Given the description of an element on the screen output the (x, y) to click on. 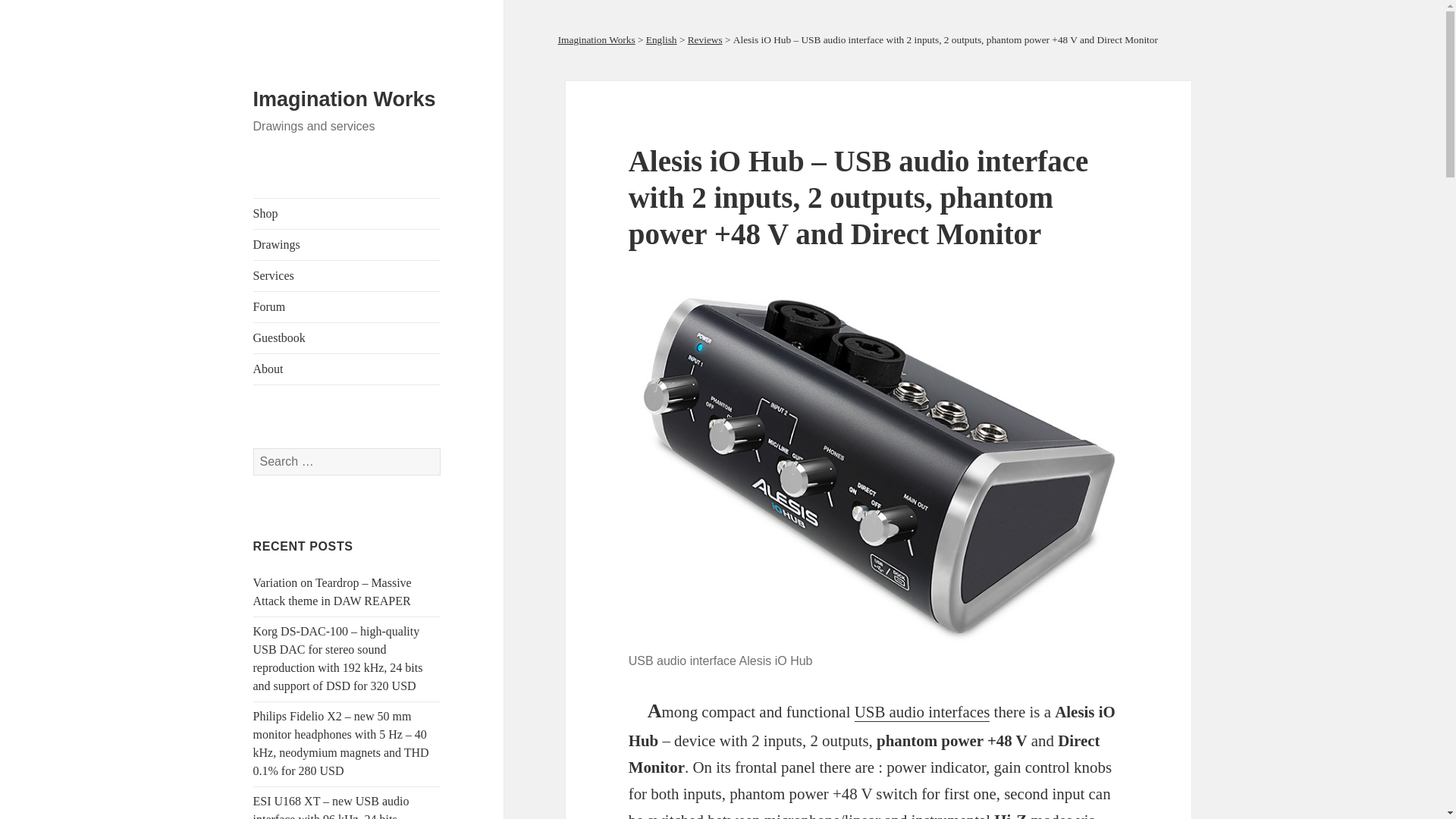
Go to the Reviews category archives. (704, 39)
Search for: (347, 461)
Go to the English category archives. (661, 39)
USB audio interfaces (922, 711)
Go to Imagination Works. (595, 39)
Reviews (704, 39)
Imagination Works (595, 39)
English (661, 39)
